Given the description of an element on the screen output the (x, y) to click on. 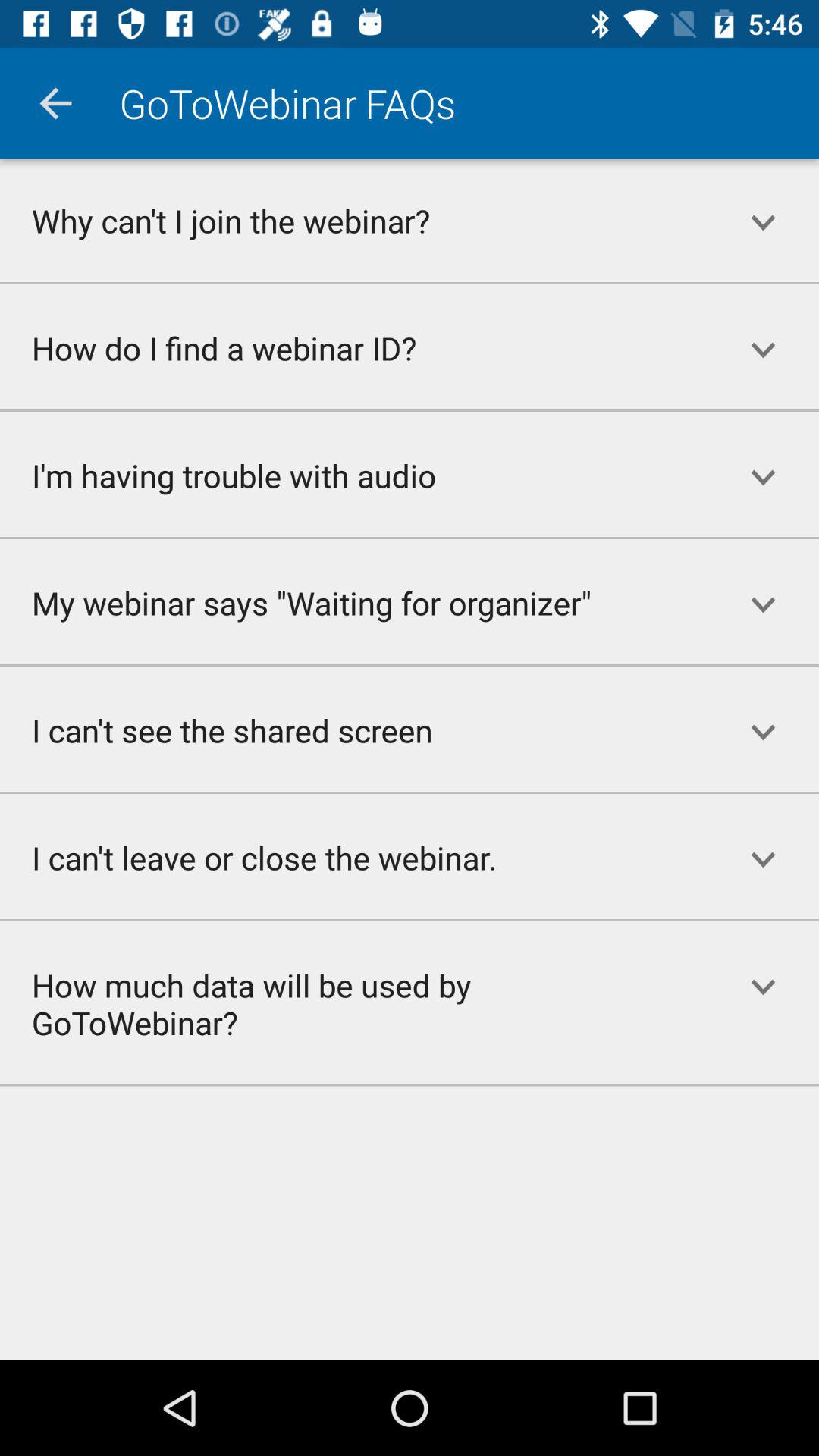
launch item next to the gotowebinar app (55, 103)
